Given the description of an element on the screen output the (x, y) to click on. 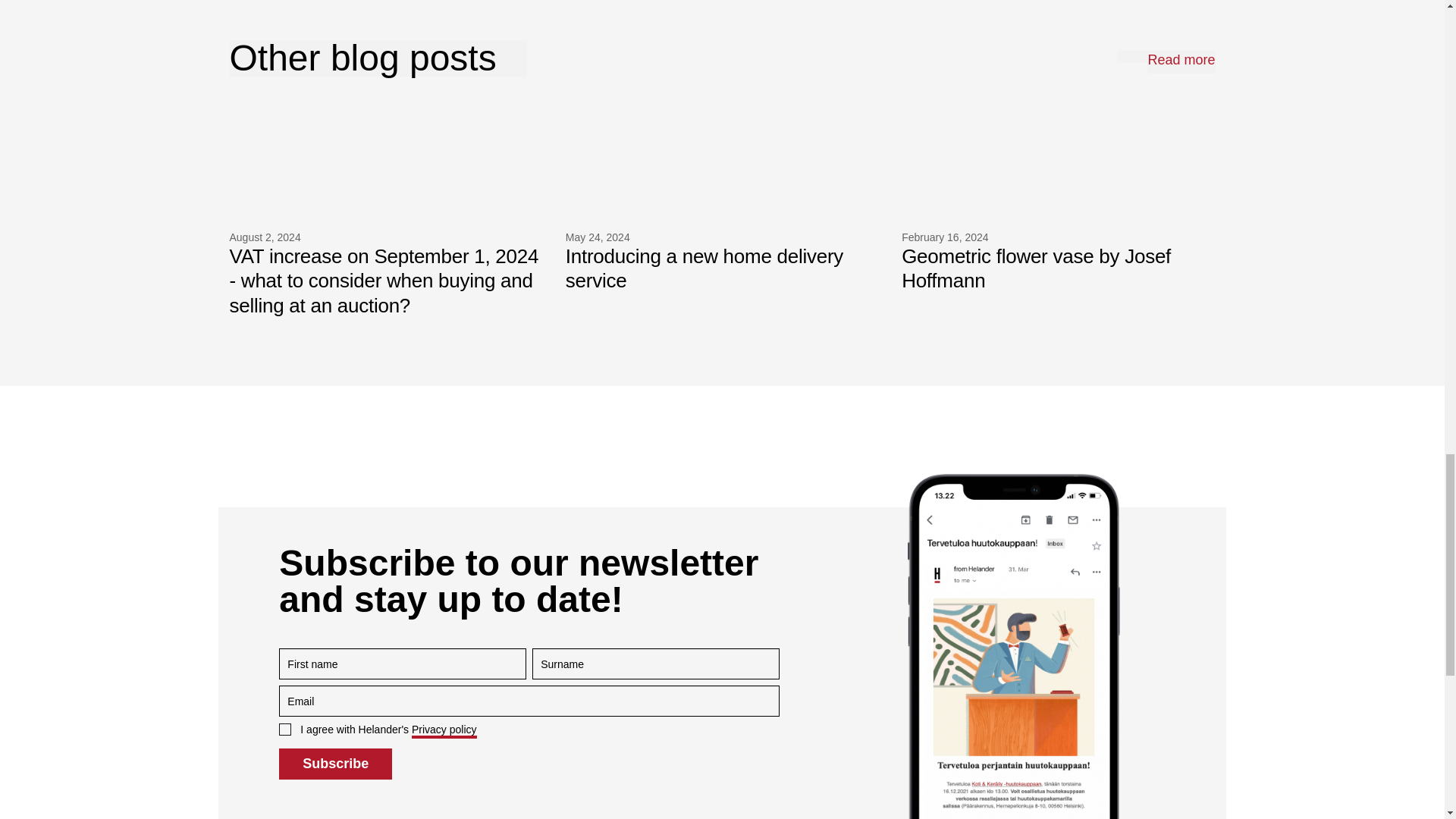
Subscribe (722, 204)
Read more (335, 763)
Privacy policy (1180, 61)
